Given the description of an element on the screen output the (x, y) to click on. 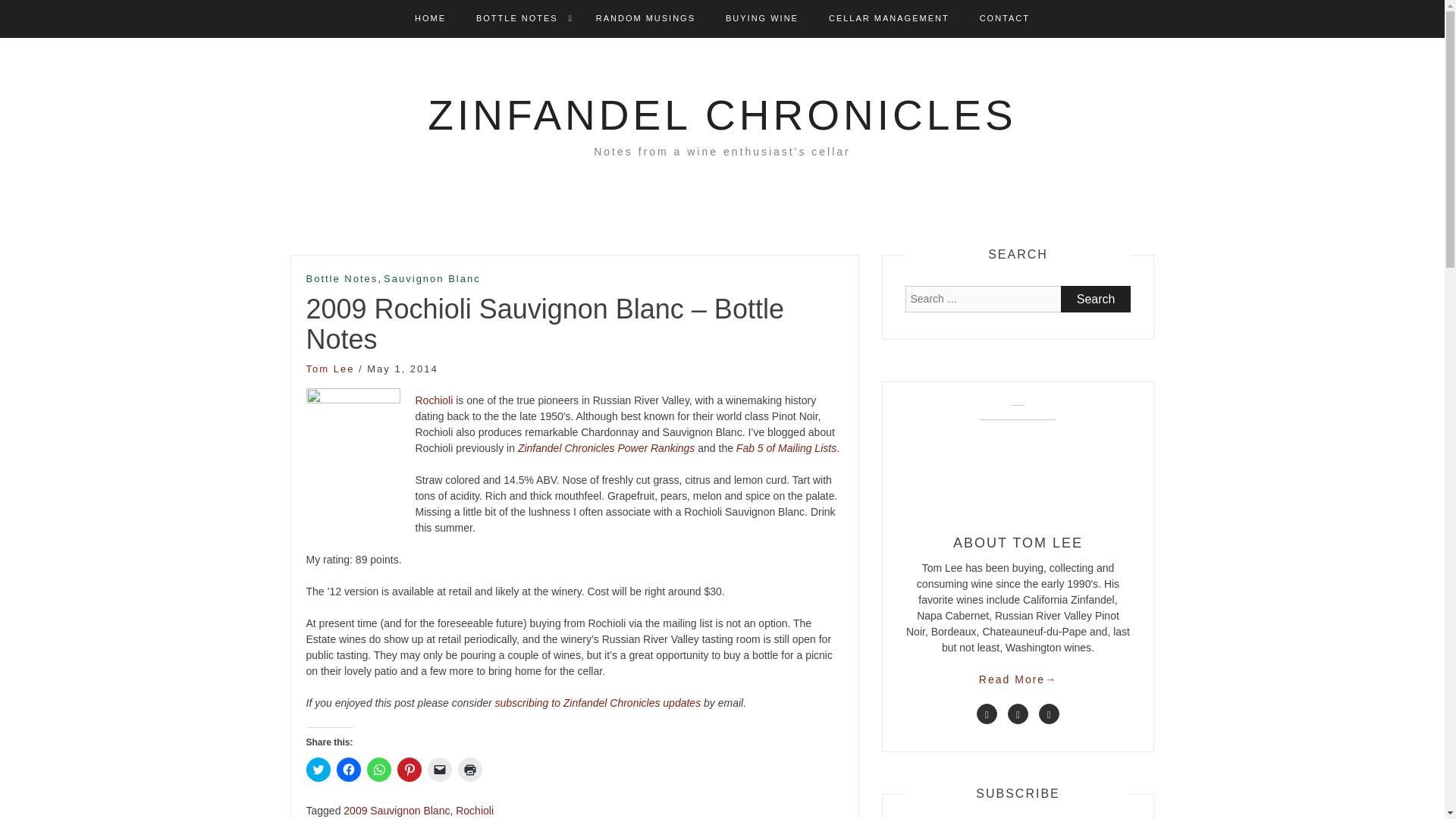
Bottle Notes (341, 278)
Click to share on Facebook (348, 769)
Fab 5 of Mailing Lists (785, 448)
Search (1096, 298)
subscribing to Zinfandel Chronicles updates (598, 702)
BOTTLE NOTES (516, 18)
CELLAR MANAGEMENT (888, 18)
Click to share on WhatsApp (378, 769)
Winery Mailing Lists: The Fab 5 (785, 448)
Search (1096, 298)
